Given the description of an element on the screen output the (x, y) to click on. 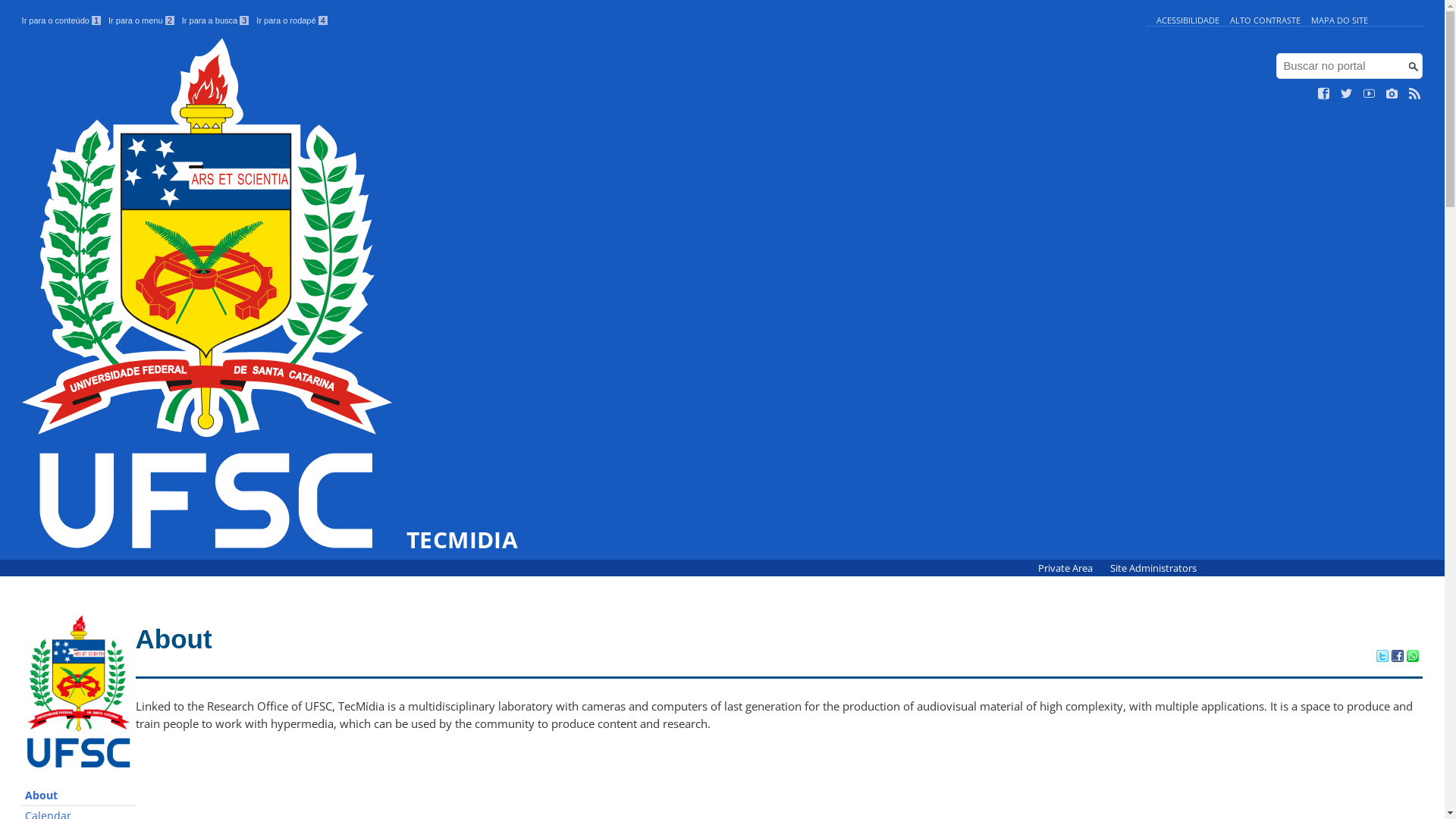
MAPA DO SITE Element type: text (1339, 19)
Veja no Instagram Element type: hover (1392, 93)
Compartilhar no Facebook Element type: hover (1397, 657)
TECMIDIA Element type: text (269, 294)
Curta no Facebook Element type: hover (1323, 93)
Ir para o menu 2 Element type: text (141, 20)
Compartilhar no WhatsApp Element type: hover (1412, 657)
Private Area Element type: text (1065, 567)
Compartilhar no Twitter Element type: hover (1382, 657)
Ir para a busca 3 Element type: text (215, 20)
ACESSIBILIDADE Element type: text (1187, 19)
Site Administrators Element type: text (1153, 567)
ALTO CONTRASTE Element type: text (1265, 19)
About Element type: text (173, 637)
About Element type: text (78, 795)
Siga no Twitter Element type: hover (1346, 93)
